Given the description of an element on the screen output the (x, y) to click on. 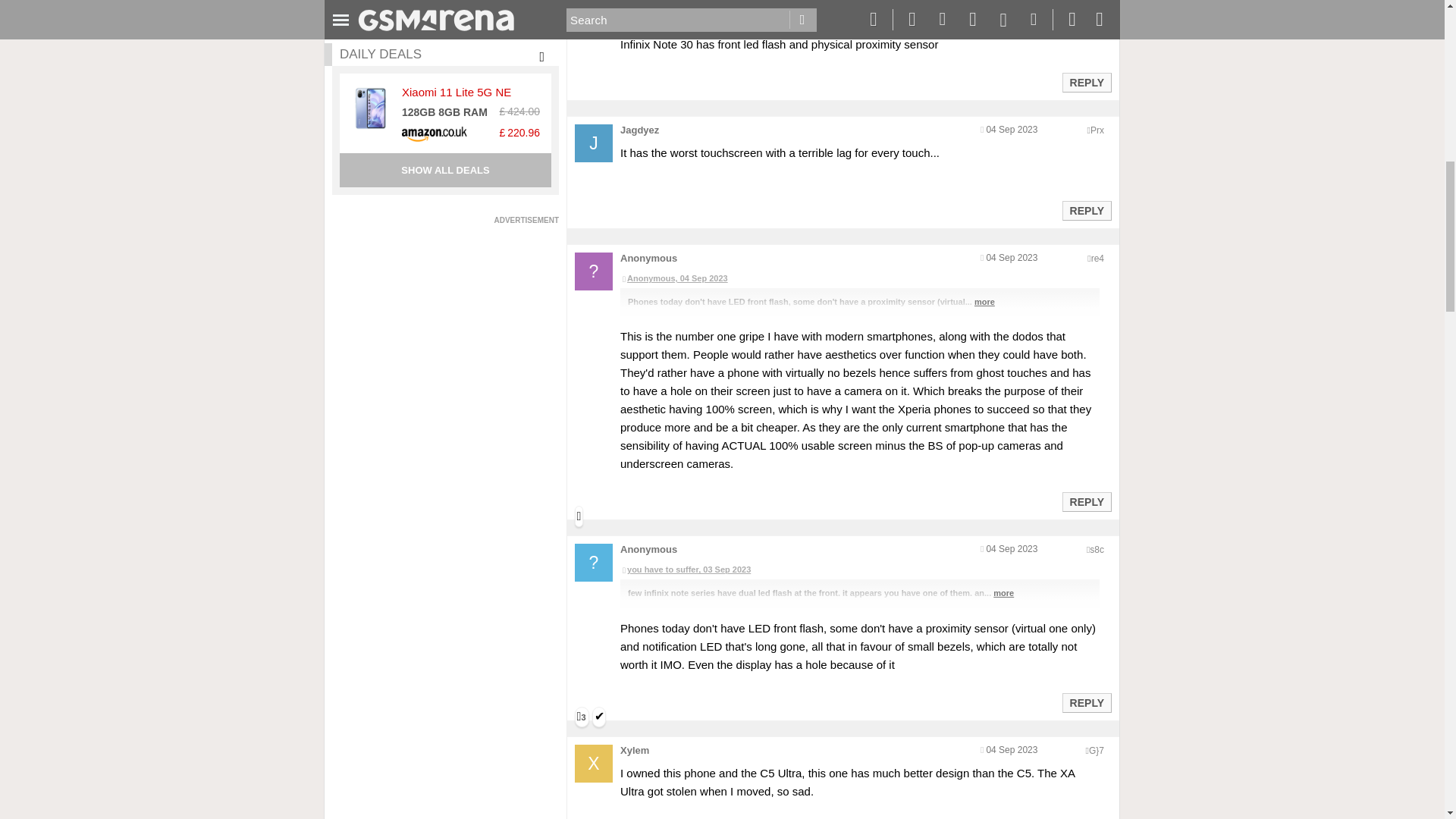
Encoded anonymized location (1096, 258)
Reply to this post (1086, 702)
Encoded anonymized location (1096, 750)
Encoded anonymized location (1096, 549)
Encoded anonymized location (1096, 130)
Reply to this post (1086, 82)
Reply to this post (1086, 501)
Reply to this post (1086, 210)
